Given the description of an element on the screen output the (x, y) to click on. 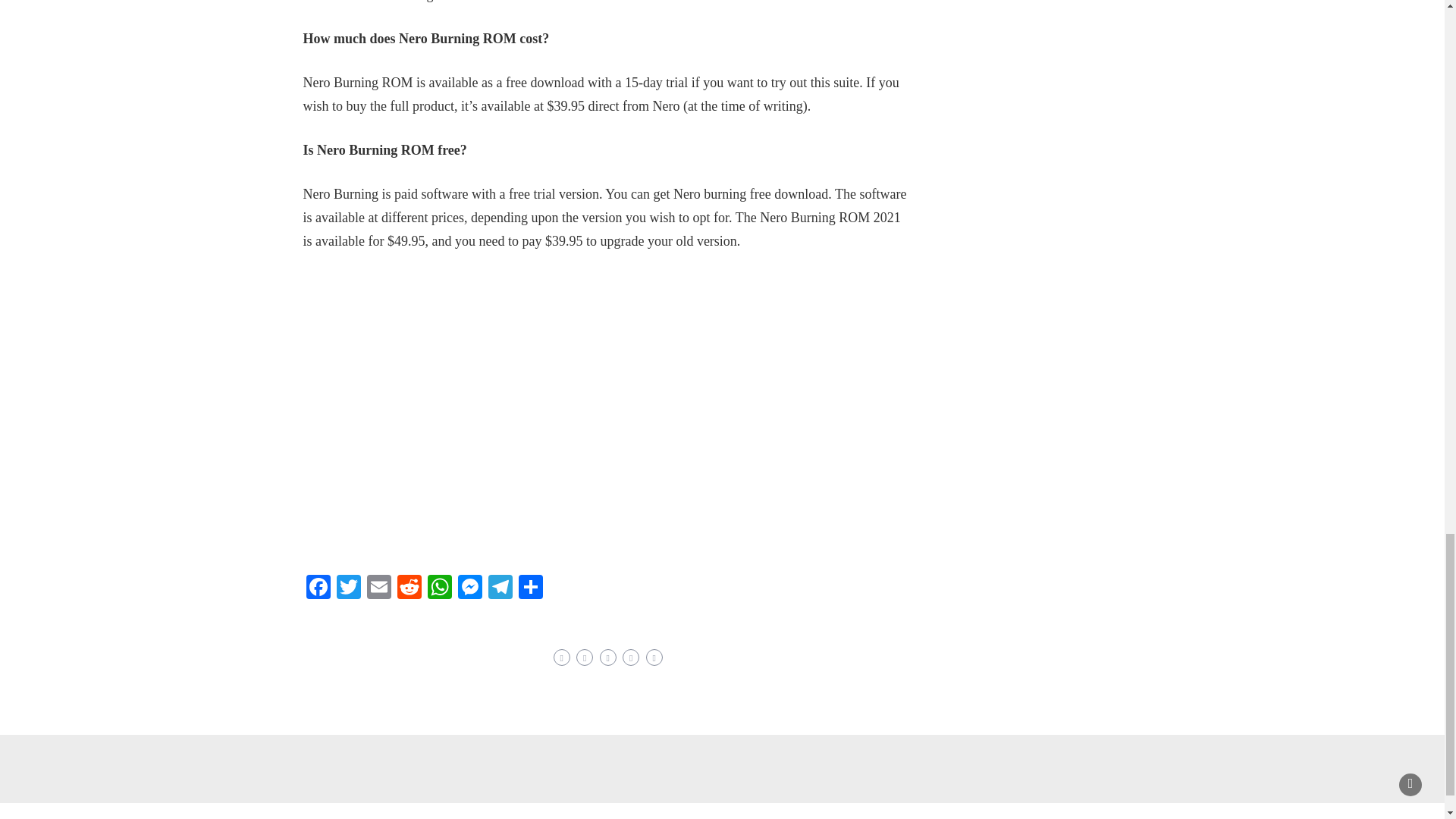
Reddit (409, 588)
Facebook (317, 588)
Messenger (469, 588)
WhatsApp (439, 588)
Telegram (499, 588)
Email (379, 588)
WhatsApp (439, 588)
Twitter (348, 588)
Reddit (409, 588)
Email (379, 588)
